Given the description of an element on the screen output the (x, y) to click on. 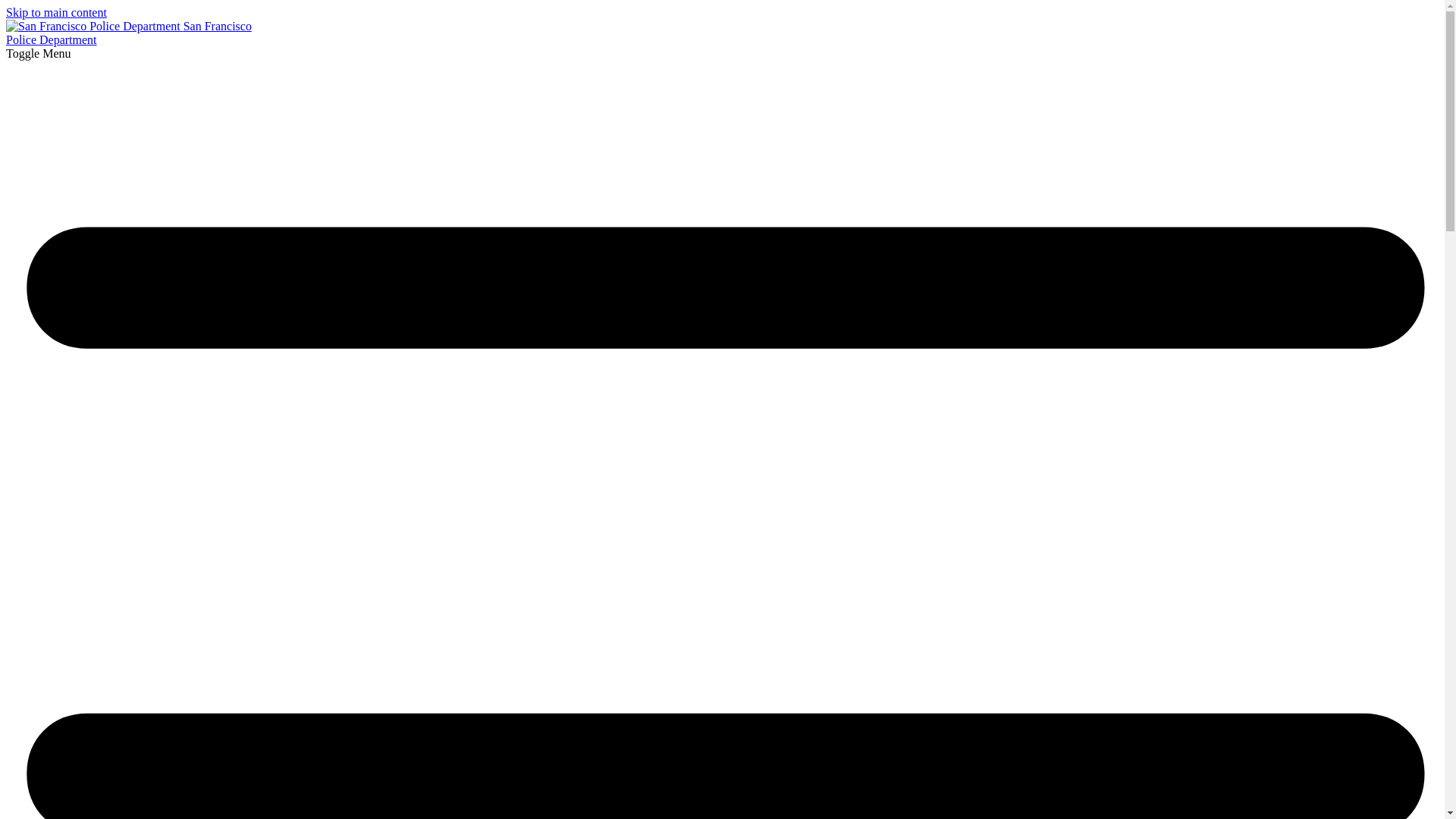
Skip to main content (55, 11)
Home (94, 25)
Home (128, 32)
